Given the description of an element on the screen output the (x, y) to click on. 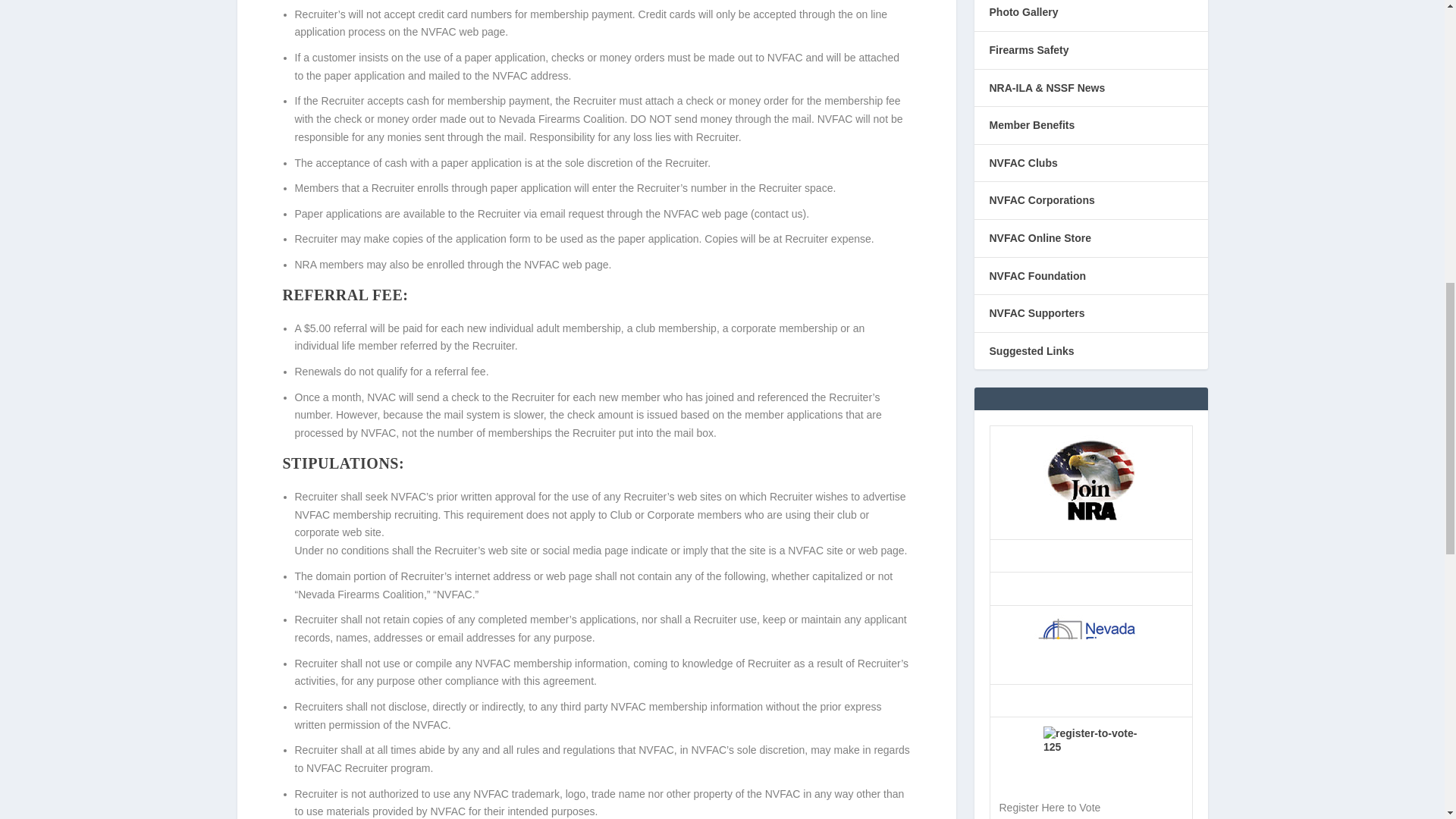
NVFAC Supporters (1036, 313)
NVFAC Online Store (1039, 237)
NVFAC Clubs (1022, 162)
Suggested Links (1031, 350)
Member Benefits (1031, 124)
Photo Gallery (1023, 11)
NVFAC Corporations (1041, 200)
NVFAC Foundation (1037, 275)
Firearms Safety (1028, 50)
